Given the description of an element on the screen output the (x, y) to click on. 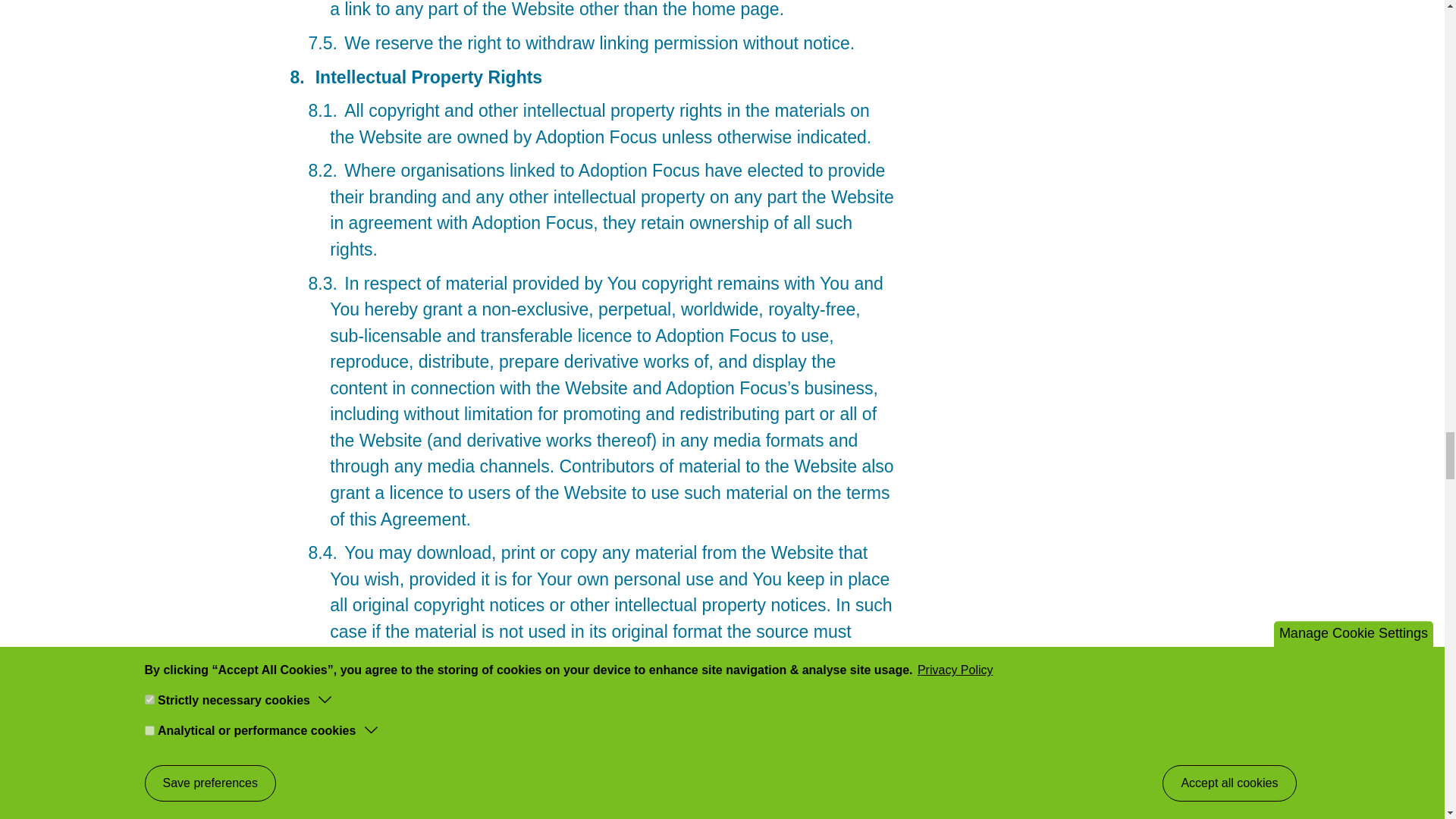
www.adoption-focus.org.uk (584, 670)
